Given the description of an element on the screen output the (x, y) to click on. 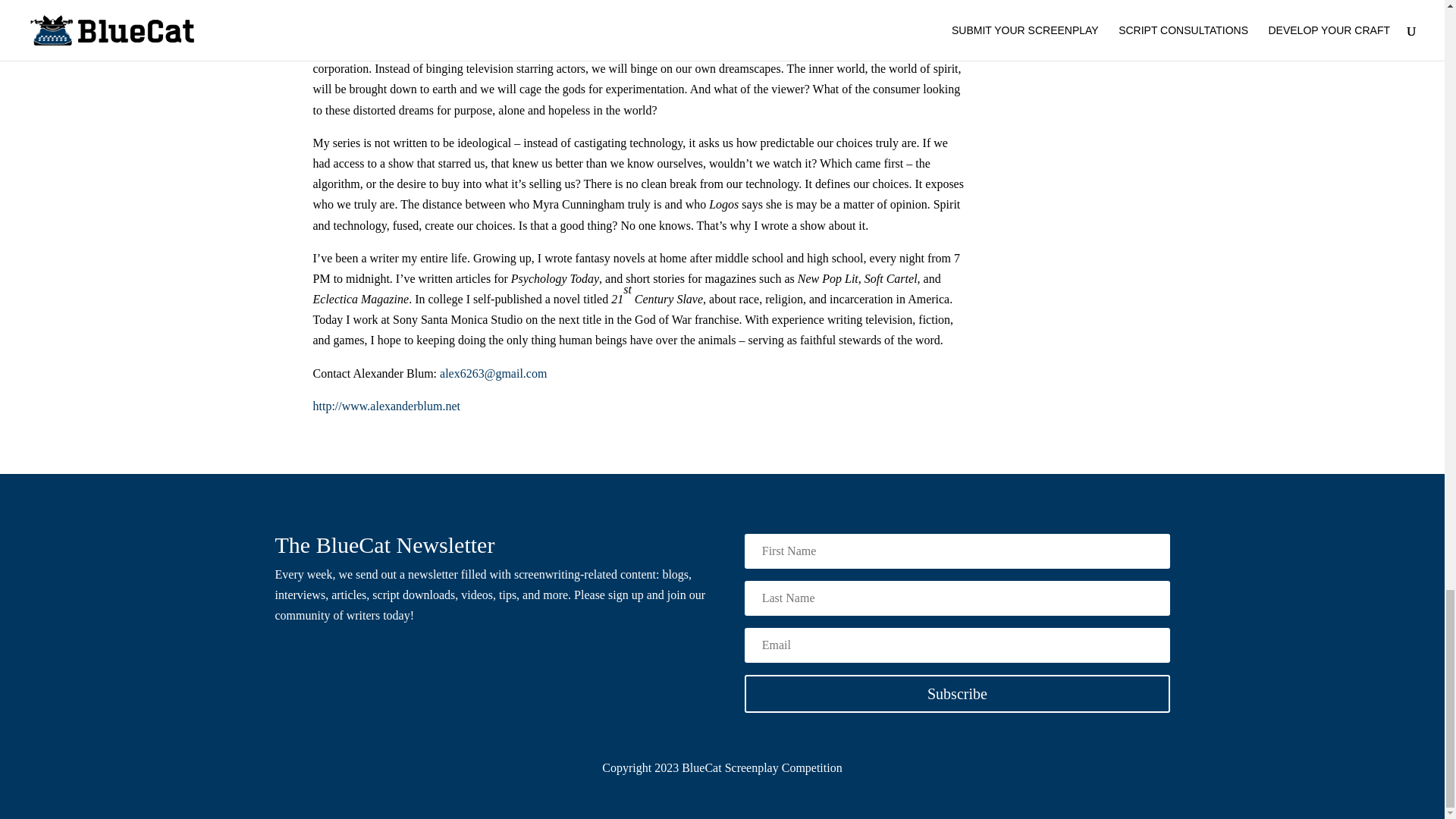
Subscribe (956, 693)
